Given the description of an element on the screen output the (x, y) to click on. 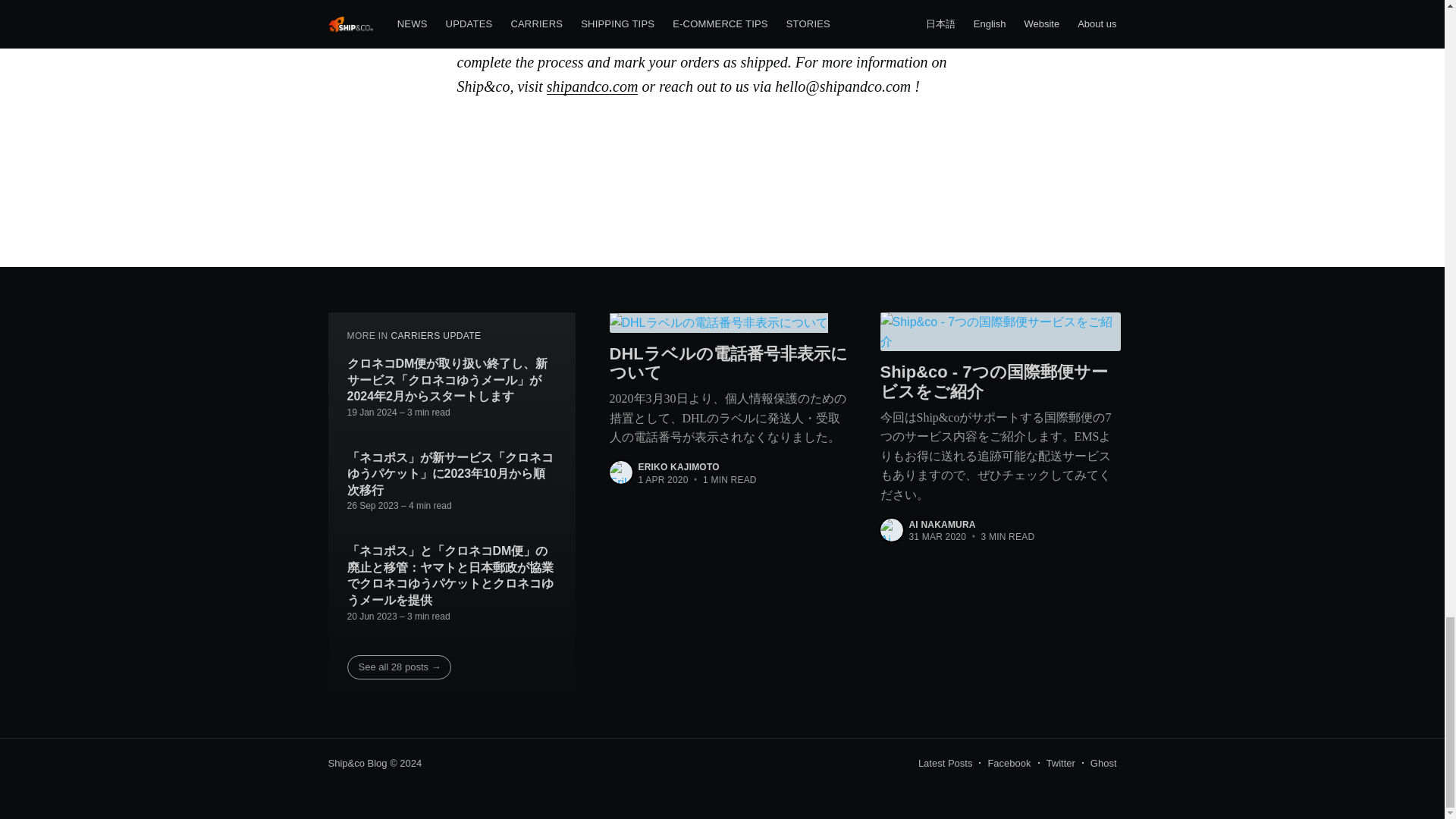
Ghost (1103, 763)
Twitter (1060, 763)
Facebook (1008, 763)
shipandco.com (593, 86)
CARRIERS UPDATE (435, 335)
ERIKO KAJIMOTO (679, 466)
AI NAKAMURA (941, 524)
Latest Posts (945, 763)
